Given the description of an element on the screen output the (x, y) to click on. 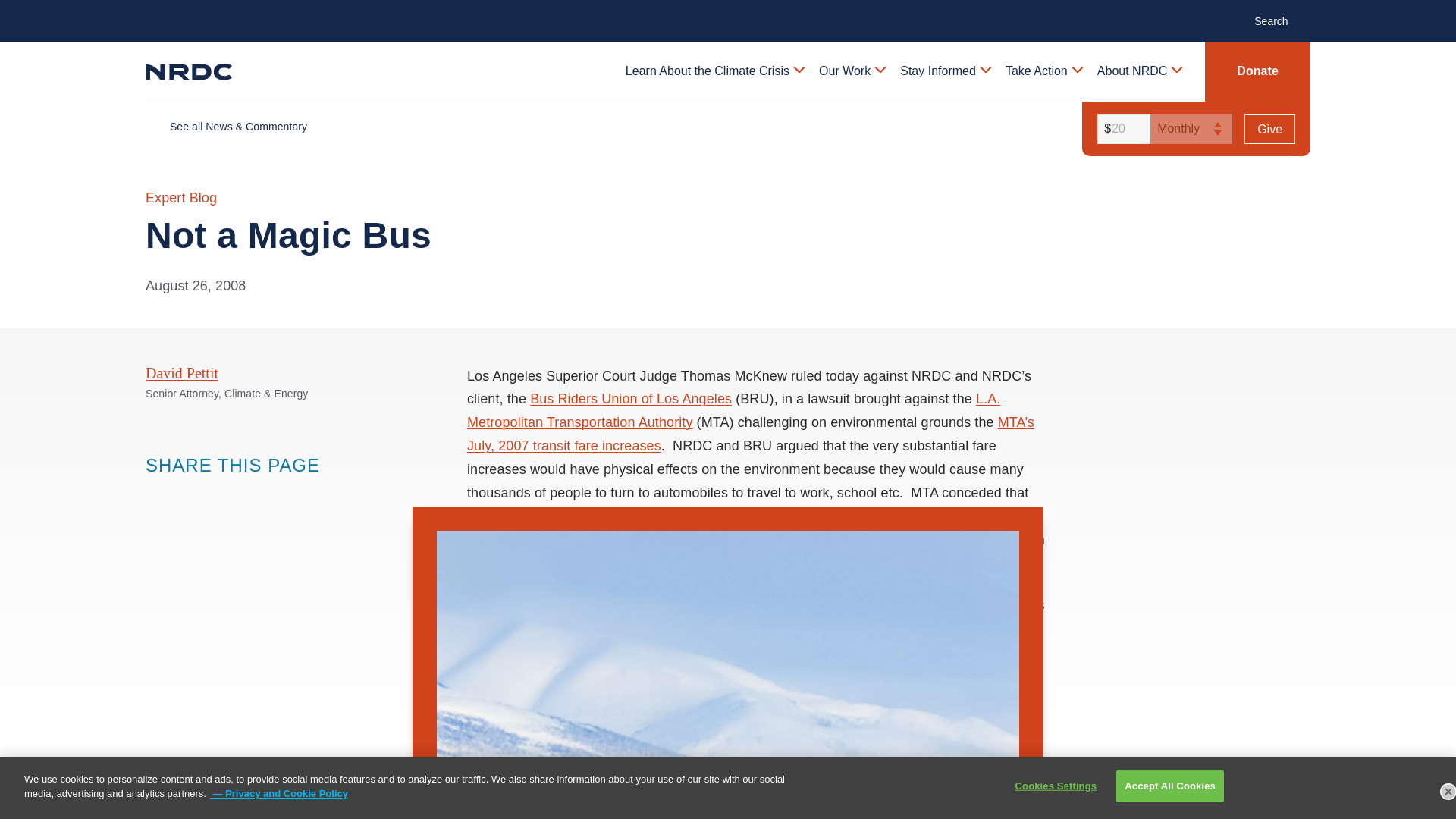
Search (1278, 19)
Our Work (850, 71)
Learn About the Climate Crisis (714, 71)
Share this page block (156, 493)
Skip to main content (727, 12)
Share this page block (186, 493)
Stay Informed (944, 71)
Share this page block (216, 493)
20 (1120, 128)
